Given the description of an element on the screen output the (x, y) to click on. 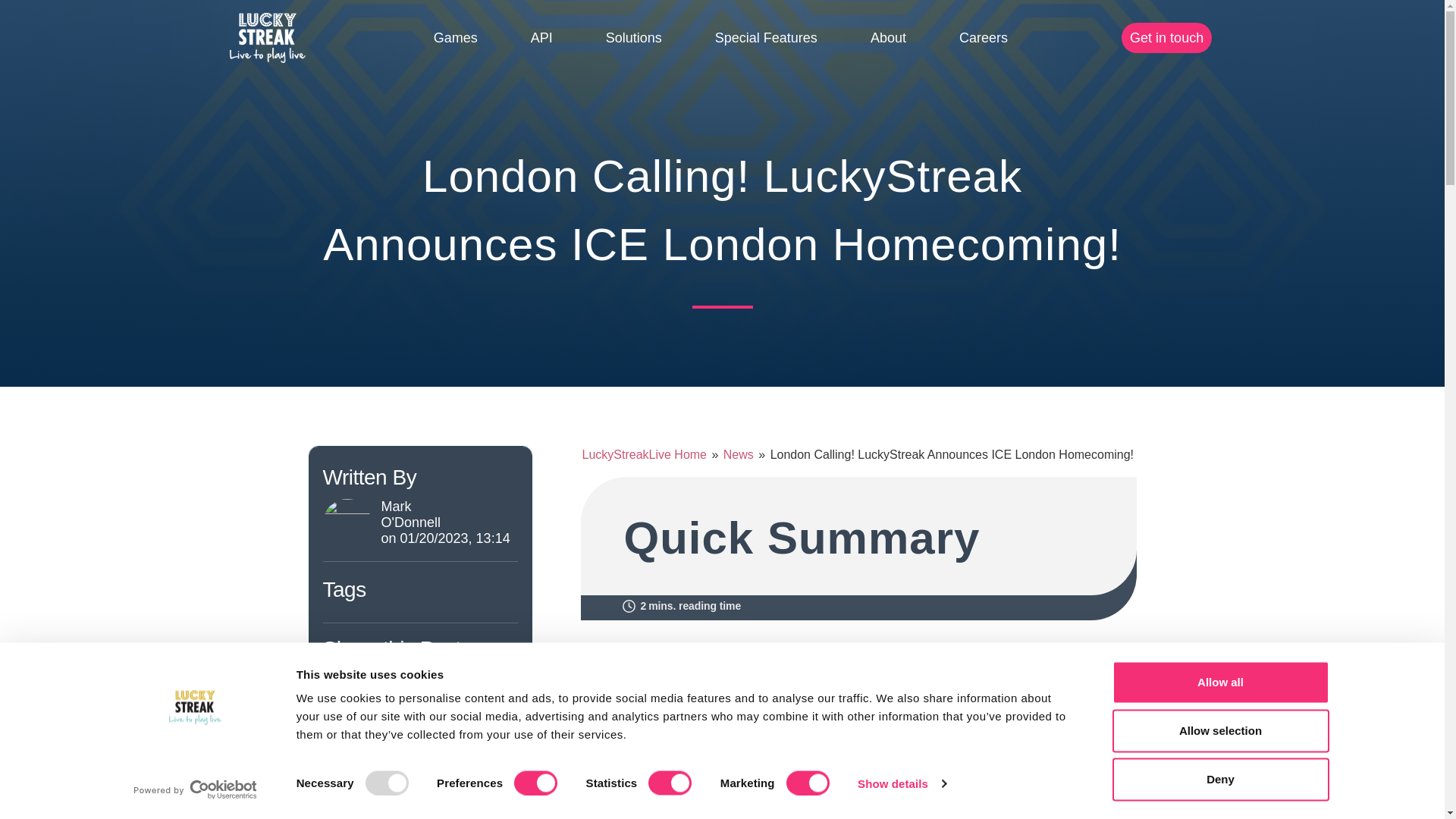
Show details (900, 783)
